Given the description of an element on the screen output the (x, y) to click on. 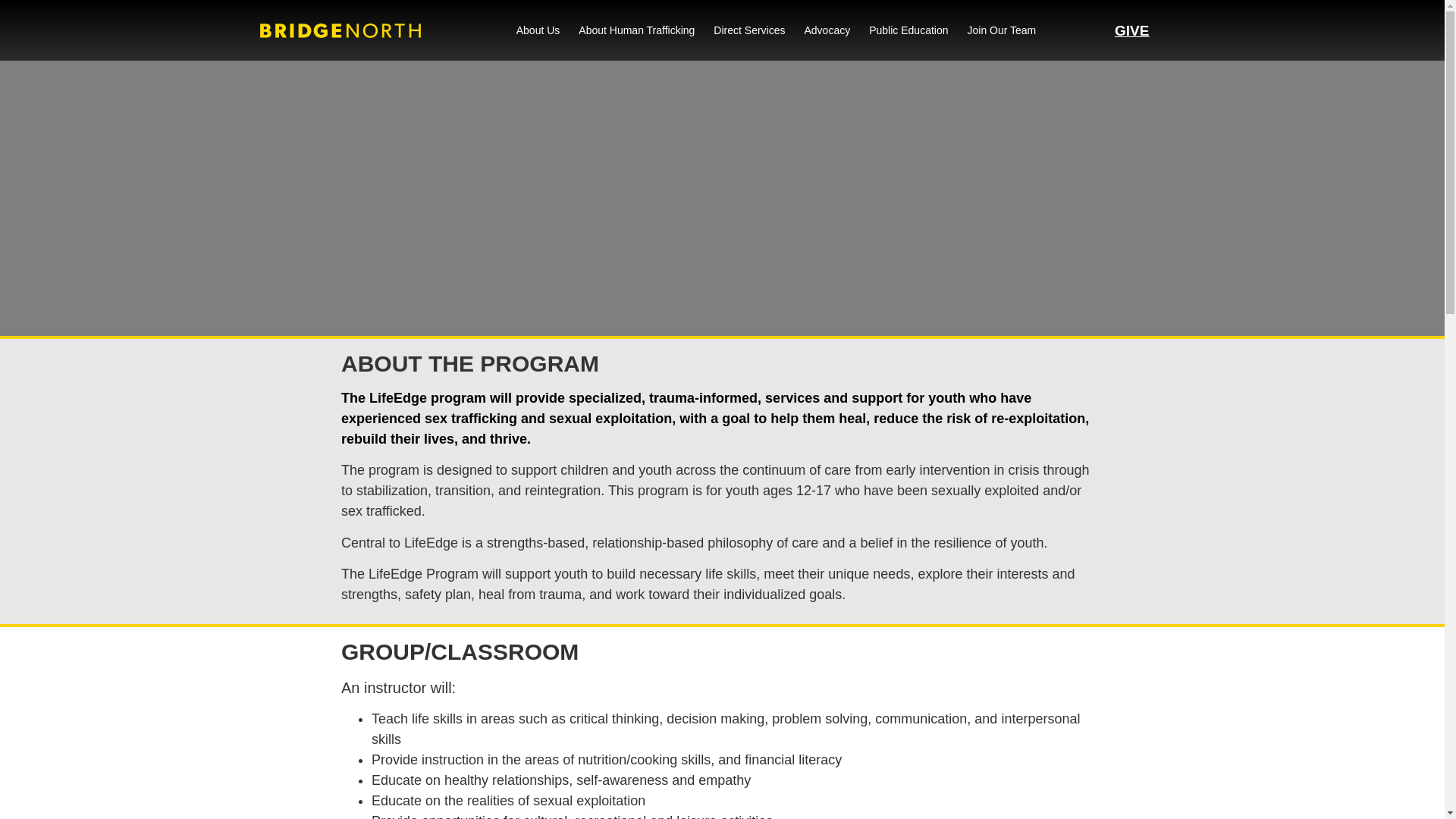
About Us (538, 30)
About Human Trafficking (636, 30)
Advocacy (826, 30)
Direct Services (748, 30)
Join Our Team (1002, 30)
Public Education (908, 30)
